Given the description of an element on the screen output the (x, y) to click on. 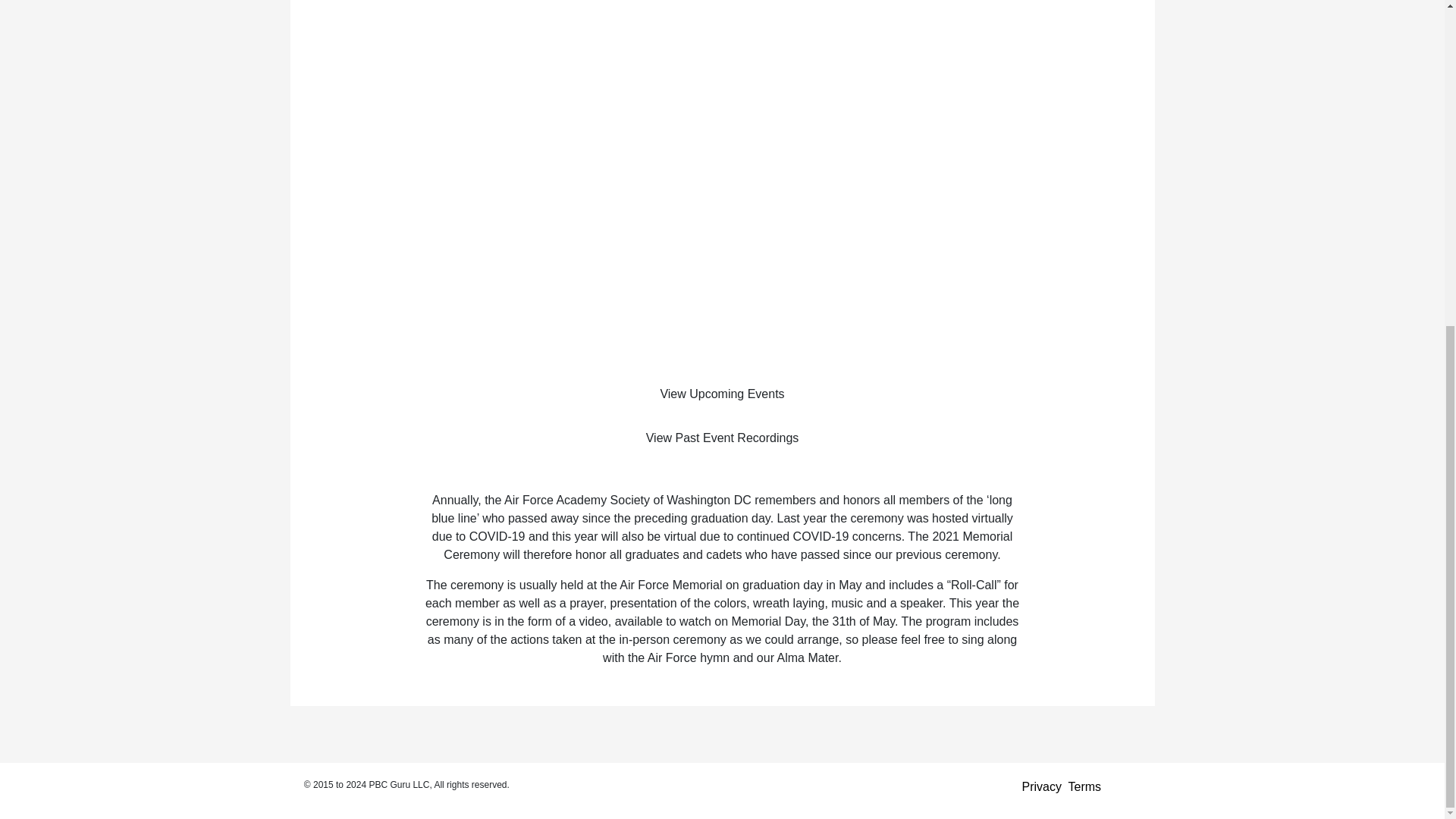
Privacy (1041, 786)
View Past Event Recordings (722, 438)
Terms (1085, 786)
View Upcoming Events (722, 394)
